Given the description of an element on the screen output the (x, y) to click on. 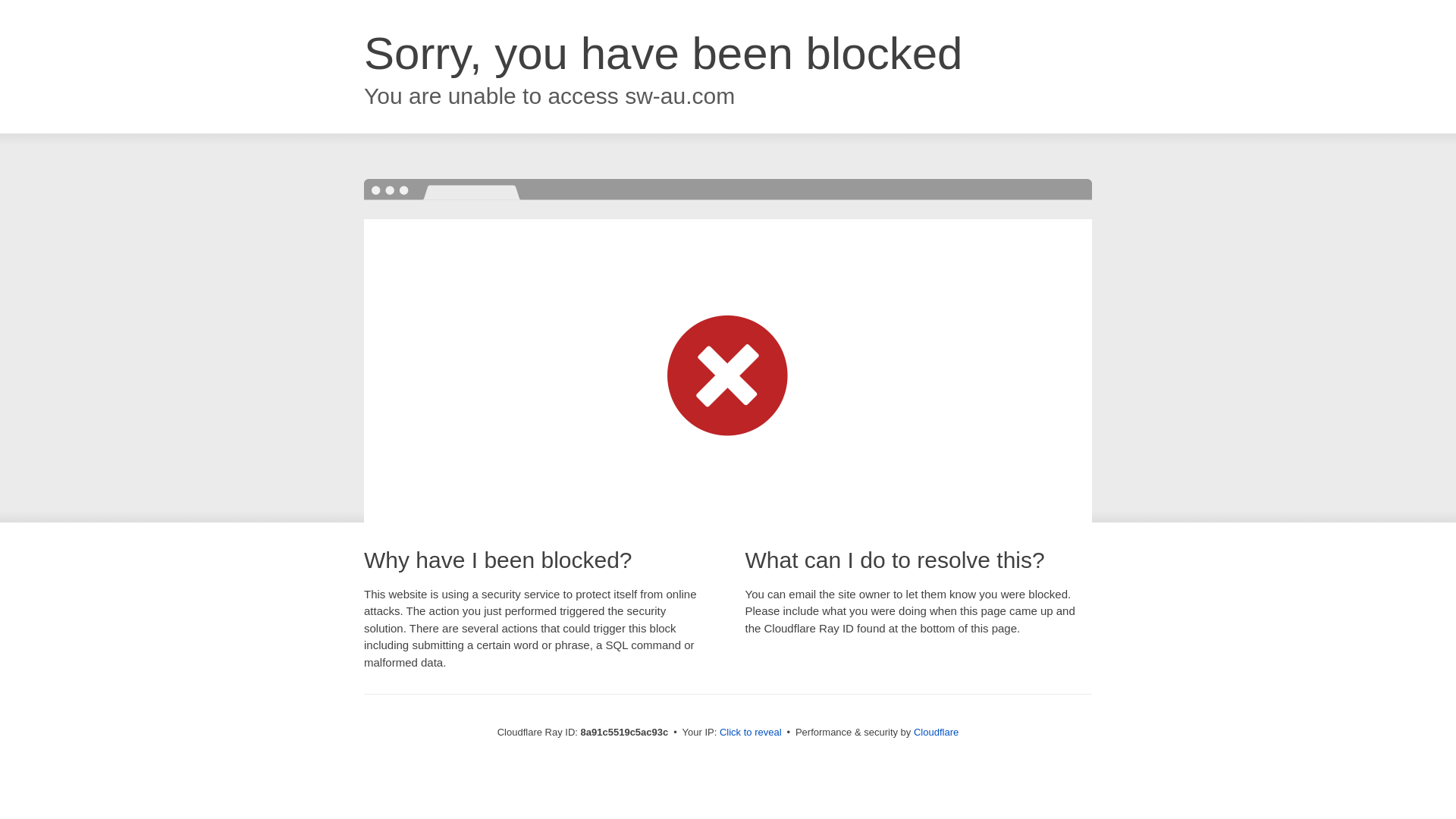
Cloudflare (936, 731)
Click to reveal (750, 732)
